Given the description of an element on the screen output the (x, y) to click on. 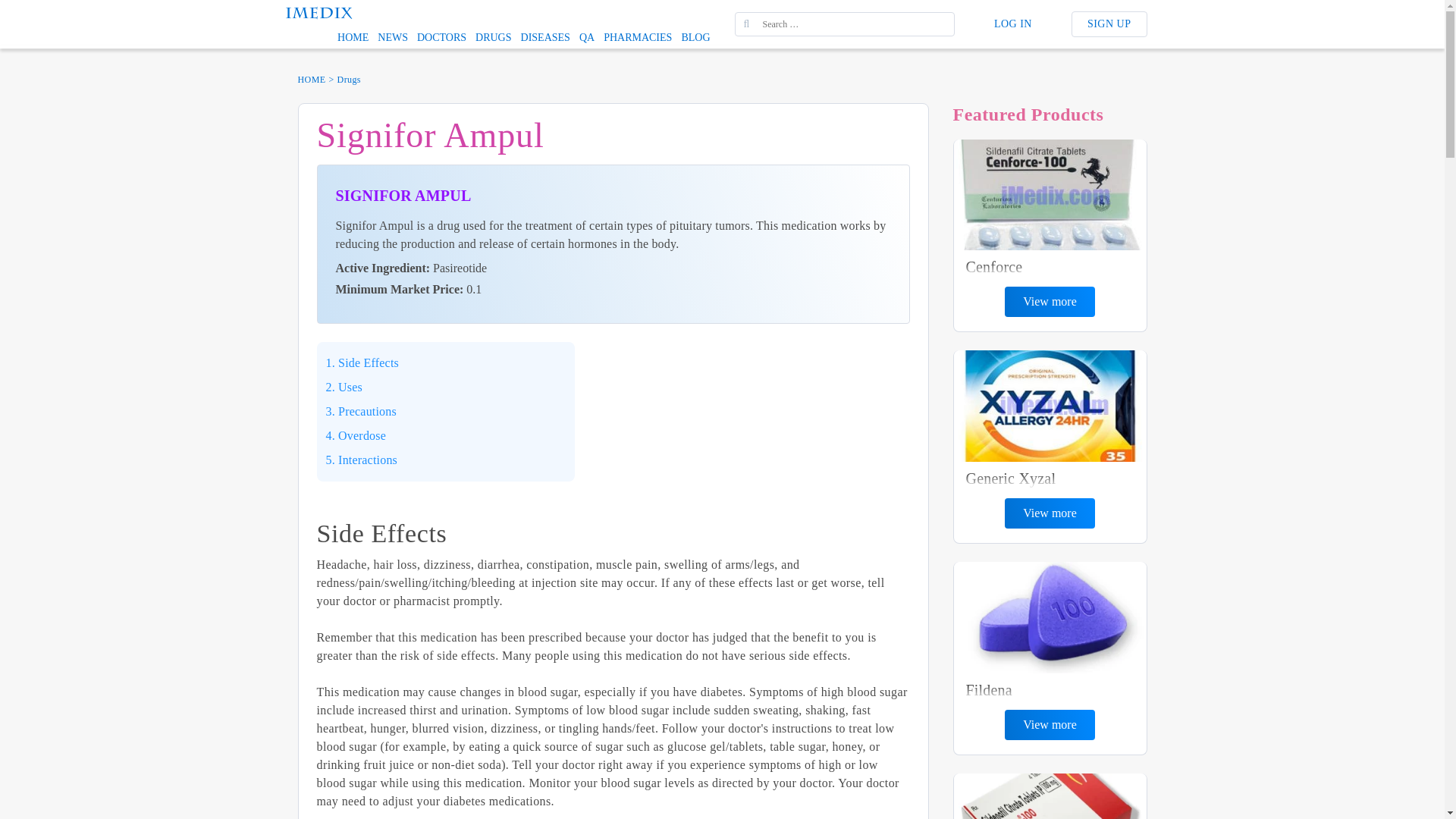
DRUGS (493, 37)
1. Side Effects (362, 362)
2. Uses (344, 387)
1. Side Effects (362, 362)
SIGN UP (1109, 23)
Drugs (349, 78)
iMedix: Your Personal Health Advisor. (318, 10)
3. Precautions (361, 411)
HOME (352, 37)
4. Overdose (356, 435)
DOCTORS (440, 37)
DISEASES (545, 37)
Search (22, 8)
HOME (310, 78)
QA (586, 37)
